Given the description of an element on the screen output the (x, y) to click on. 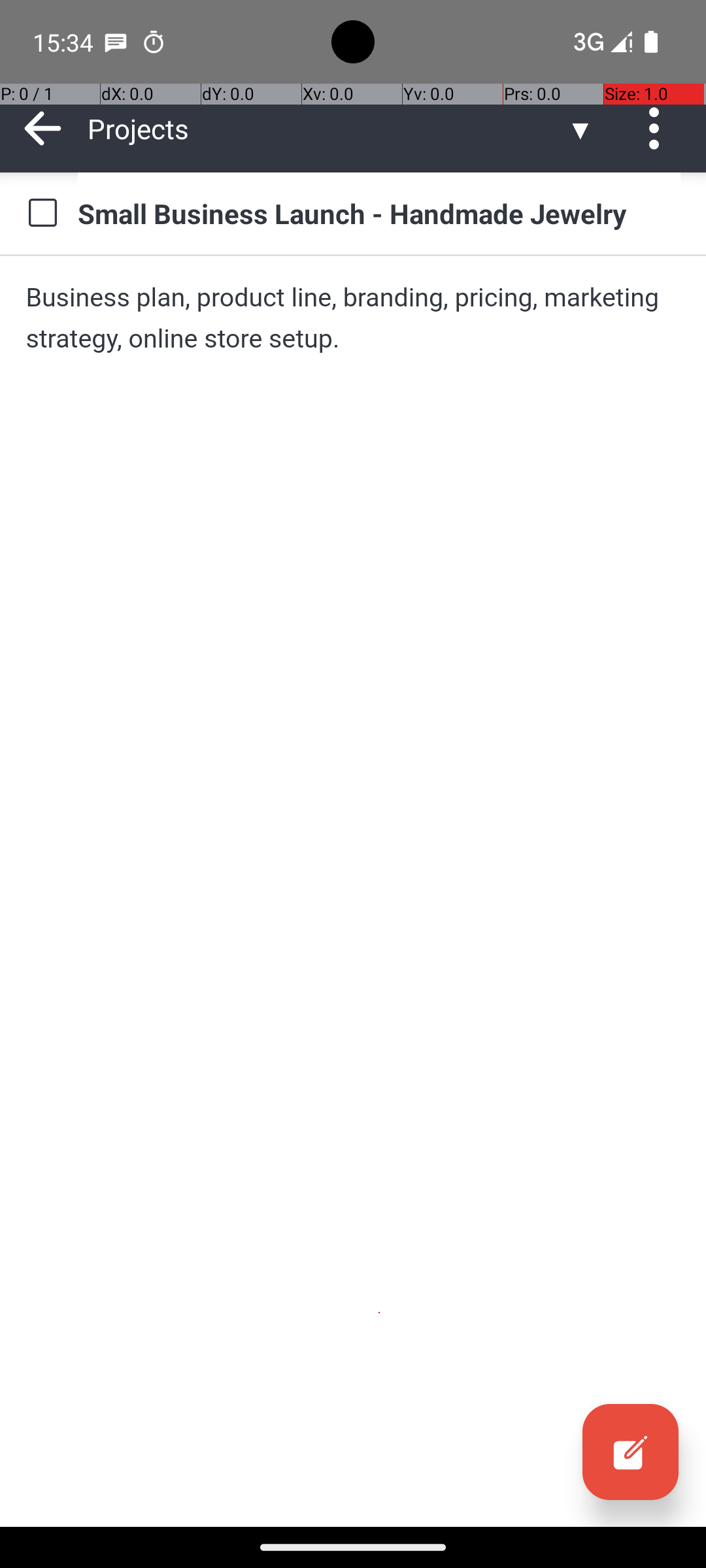
Small Business Launch - Handmade Jewelry Element type: android.widget.EditText (378, 213)
Business plan, product line, branding, pricing, marketing strategy, online store setup. Element type: android.widget.TextView (352, 317)
